Given the description of an element on the screen output the (x, y) to click on. 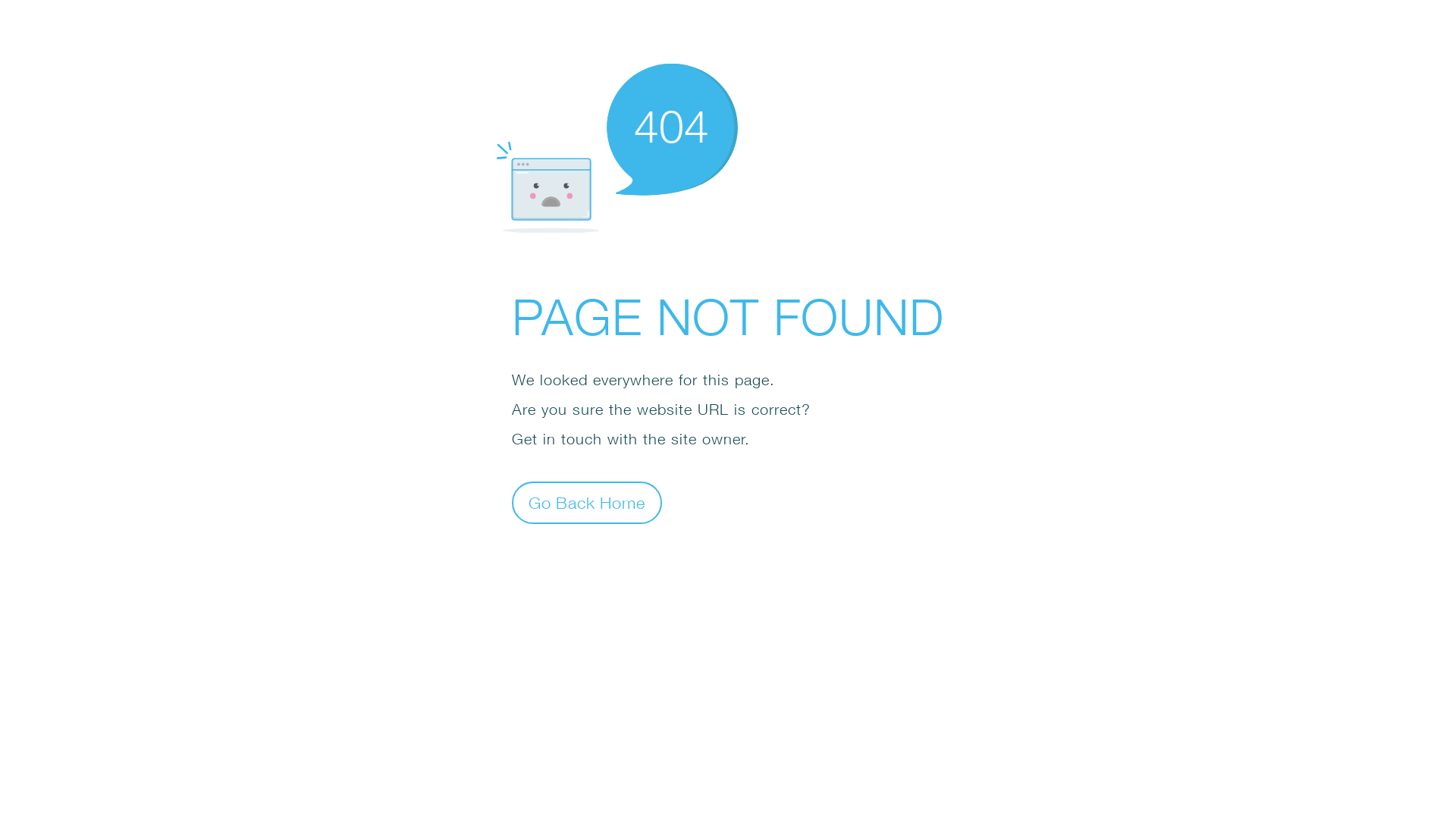
Go Back Home Element type: text (586, 502)
